Given the description of an element on the screen output the (x, y) to click on. 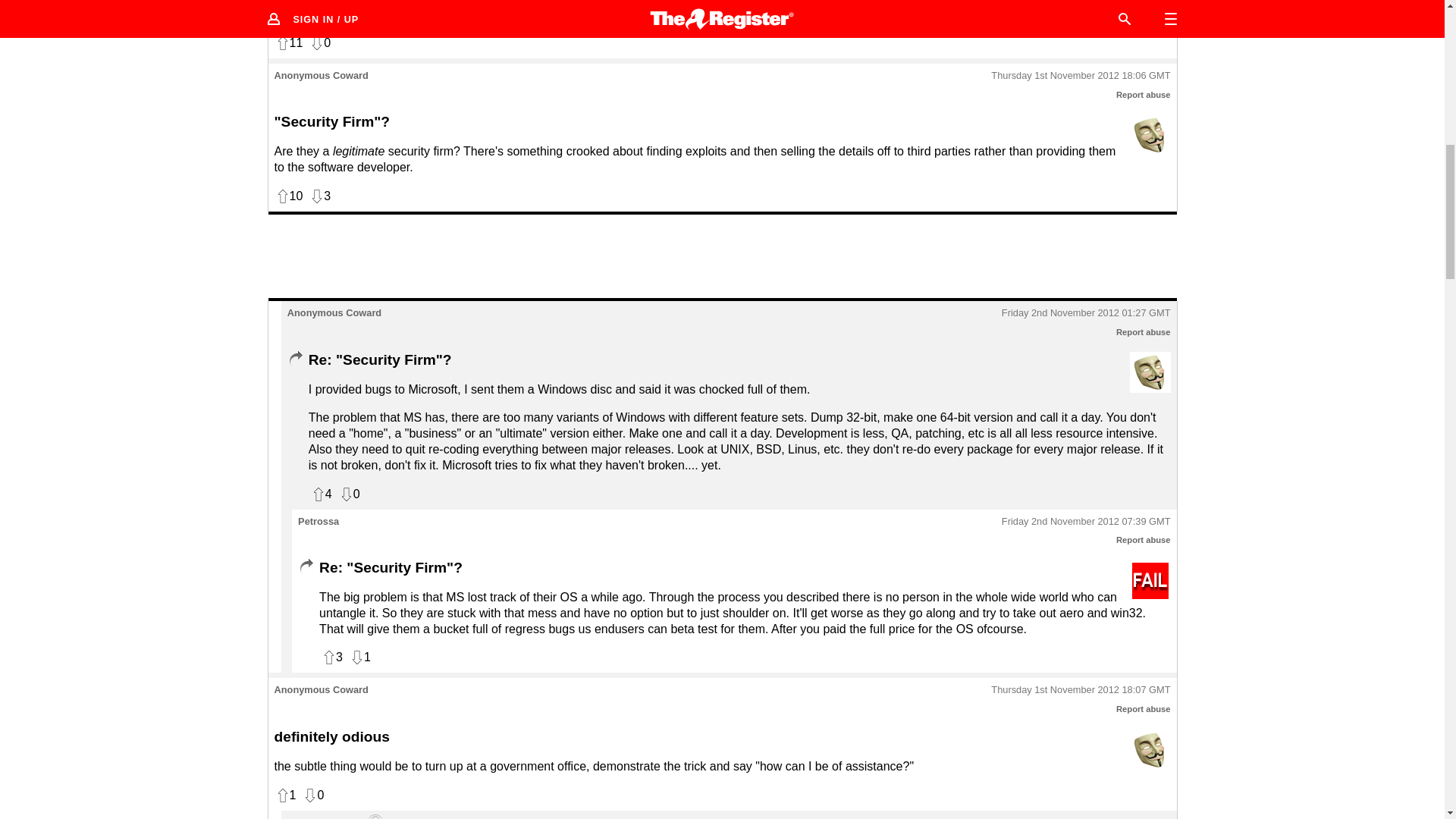
Report abuse (1143, 94)
Report abuse (1143, 331)
Report abuse (1143, 539)
Report abuse (1143, 708)
